Given the description of an element on the screen output the (x, y) to click on. 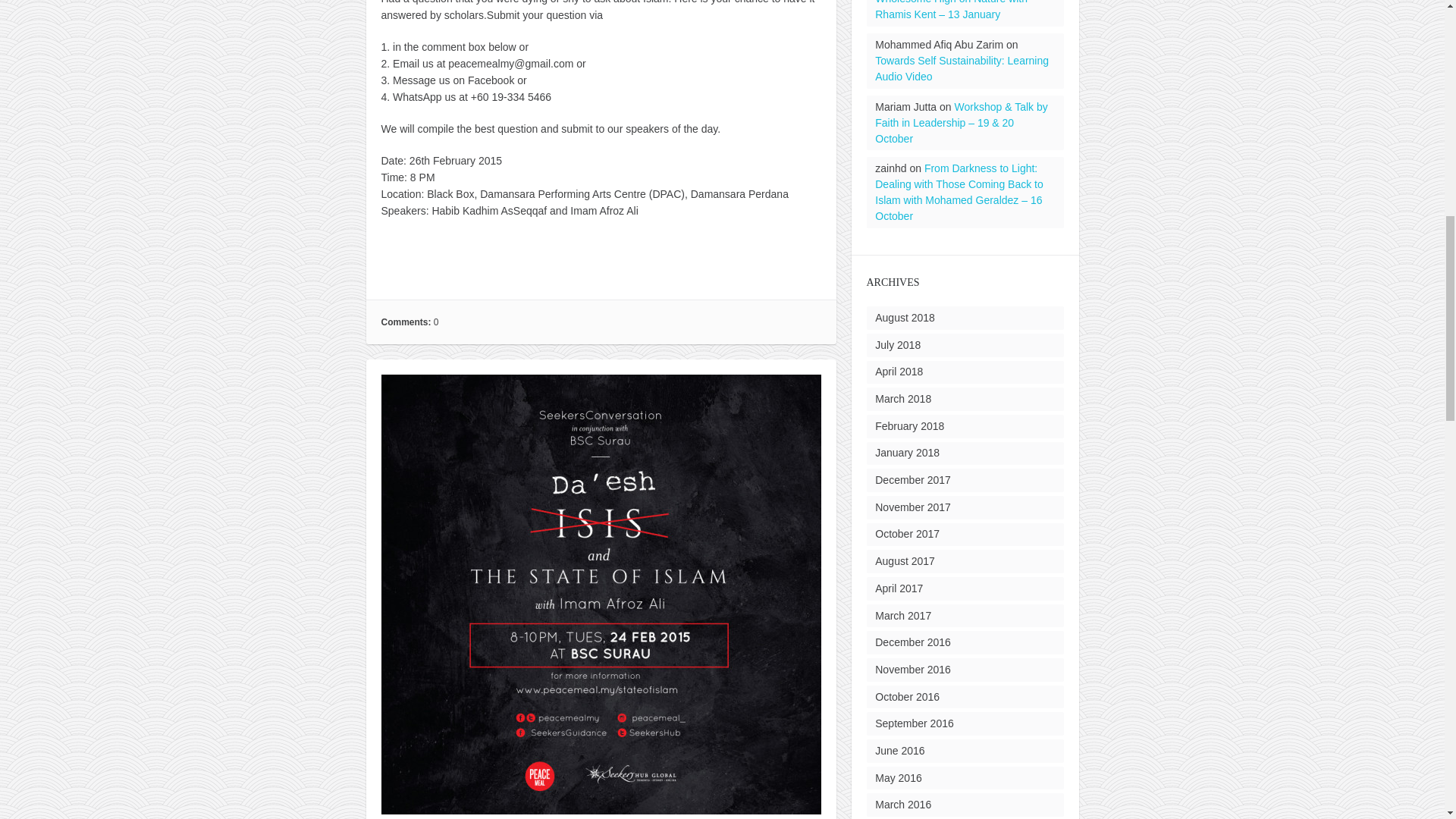
November 2017 (912, 507)
August 2018 (904, 317)
July 2018 (897, 345)
December 2017 (912, 480)
Towards Self Sustainability: Learning Audio Video (961, 68)
April 2018 (899, 371)
February 2018 (909, 426)
January 2018 (907, 452)
March 2018 (903, 398)
